Given the description of an element on the screen output the (x, y) to click on. 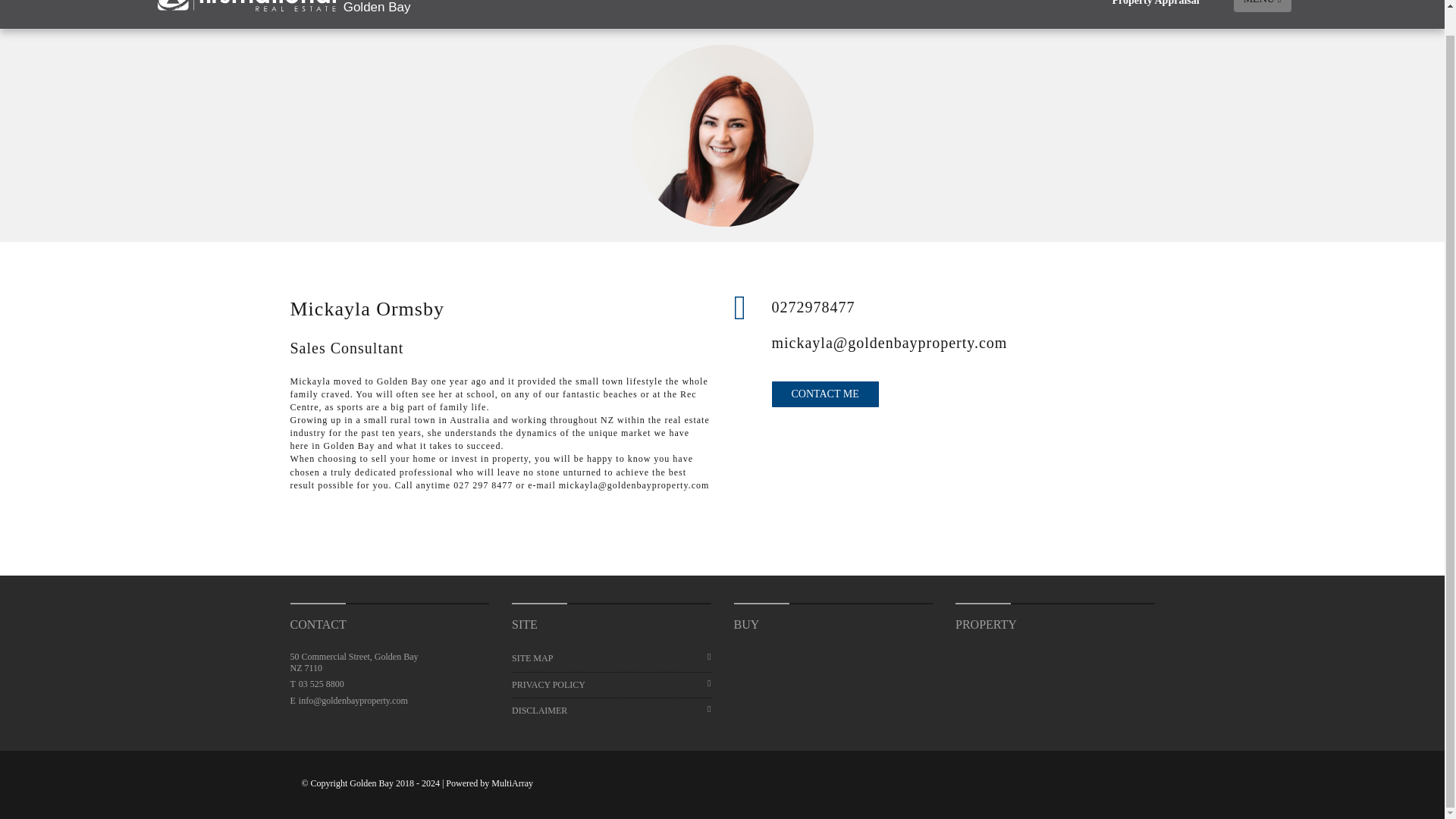
SITE MAP (611, 658)
0272978477 (962, 306)
Property Appraisal (1155, 14)
DISCLAIMER (611, 710)
CONTACT ME (825, 394)
PRIVACY POLICY (611, 684)
Mickayla Ormsby (721, 135)
03 525 8800 (320, 683)
